Given the description of an element on the screen output the (x, y) to click on. 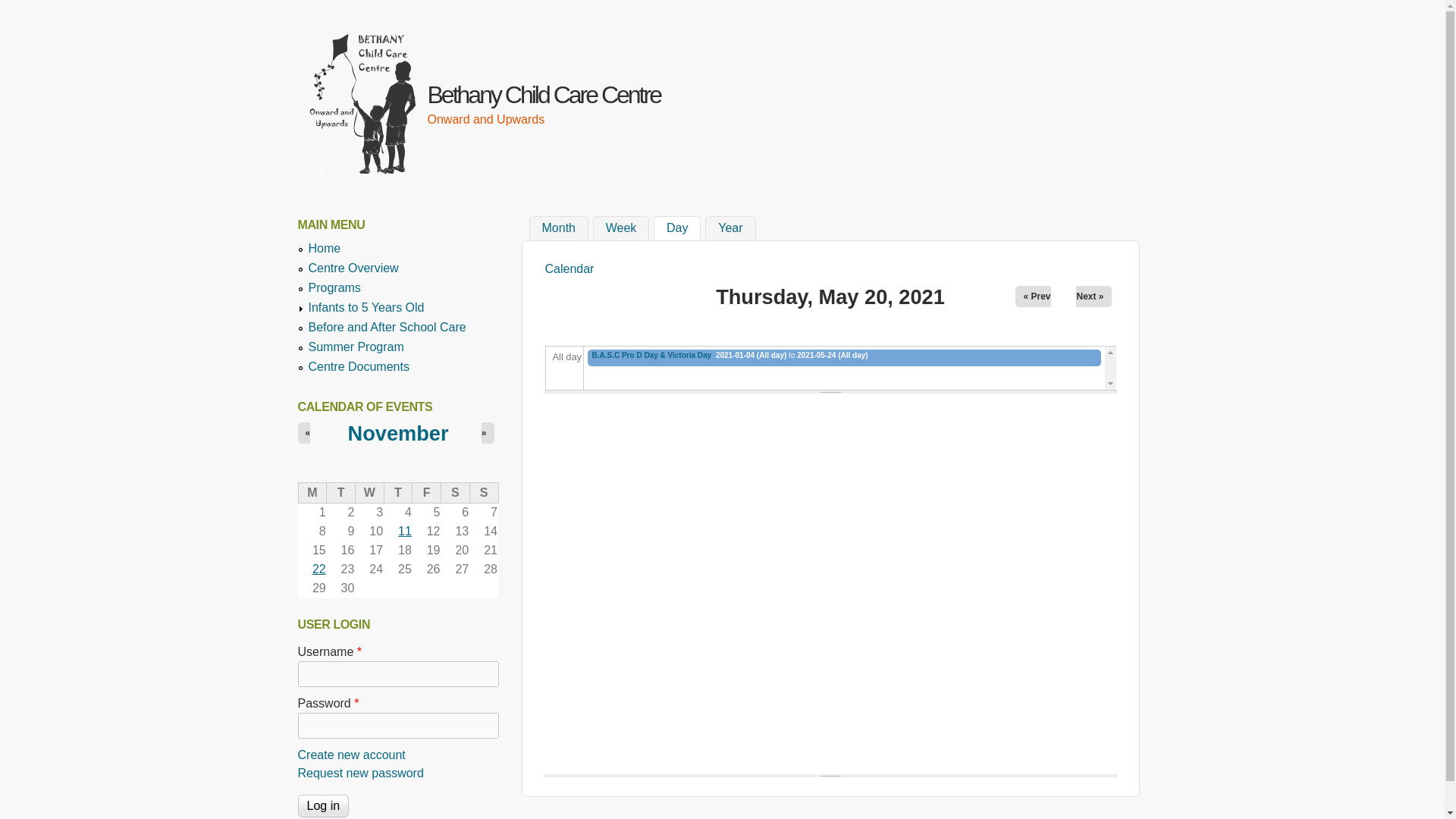
22 Element type: text (319, 568)
Day
(active tab) Element type: text (676, 228)
Centre Overview Element type: text (352, 267)
Week Element type: text (621, 227)
Create new account Element type: text (350, 754)
Home Element type: text (323, 247)
11 Element type: text (404, 530)
Summer Program Element type: text (355, 346)
B.A.S.C Pro D Day & Victoria Day Element type: text (651, 355)
Request new password Element type: text (360, 772)
Calendar Element type: text (568, 268)
Log in Element type: text (322, 805)
November Element type: text (398, 433)
Before and After School Care Element type: text (386, 326)
Centre Documents Element type: text (357, 366)
Skip to main content Element type: text (704, 0)
Bethany Child Care Centre Element type: text (543, 94)
Programs Element type: text (333, 287)
Month Element type: text (558, 227)
Year Element type: text (730, 227)
Infants to 5 Years Old Element type: text (365, 307)
